Given the description of an element on the screen output the (x, y) to click on. 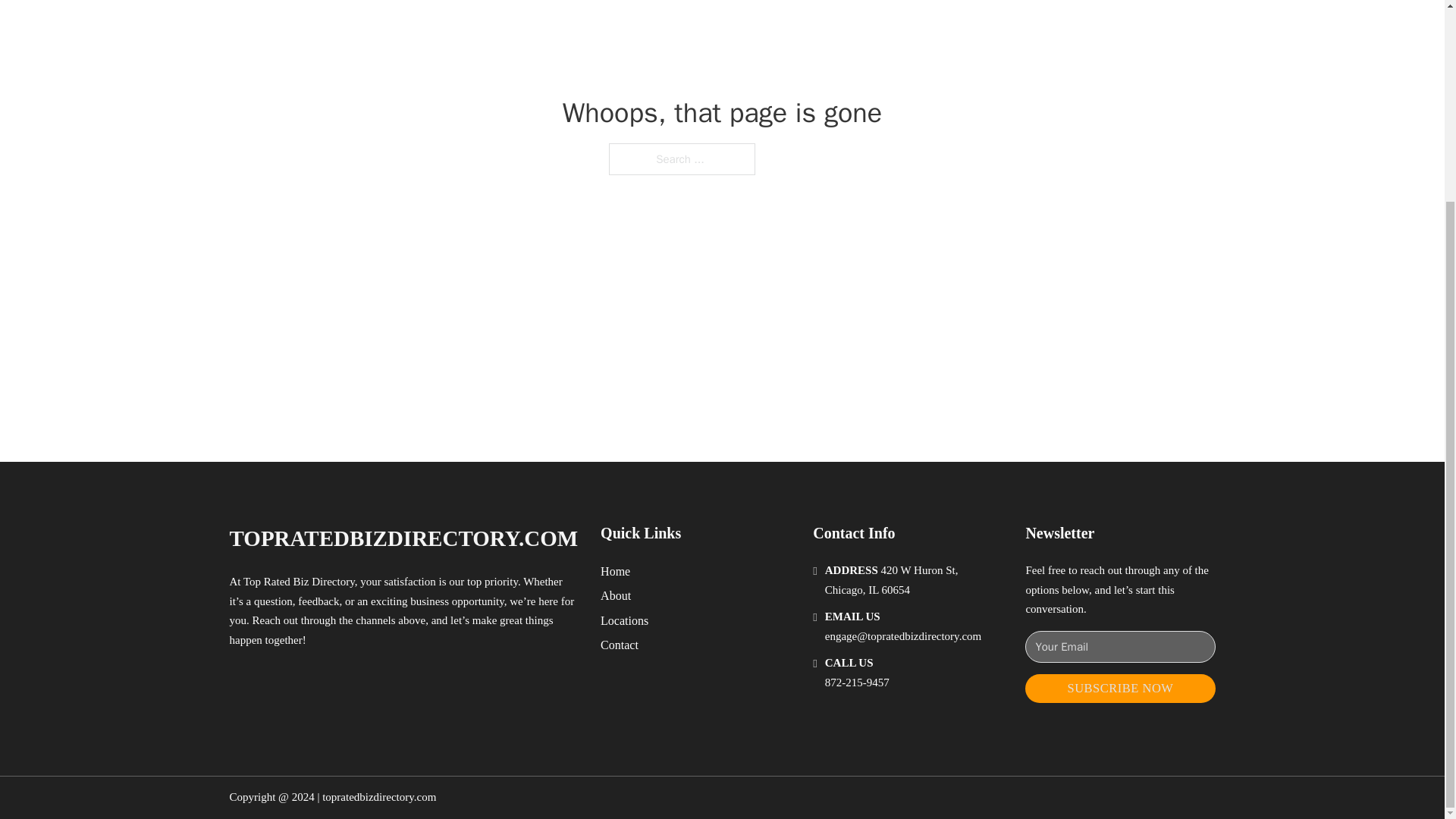
Locations (623, 620)
SUBSCRIBE NOW (1119, 688)
Contact (619, 644)
Home (614, 571)
TOPRATEDBIZDIRECTORY.COM (403, 538)
About (614, 595)
872-215-9457 (857, 682)
